Given the description of an element on the screen output the (x, y) to click on. 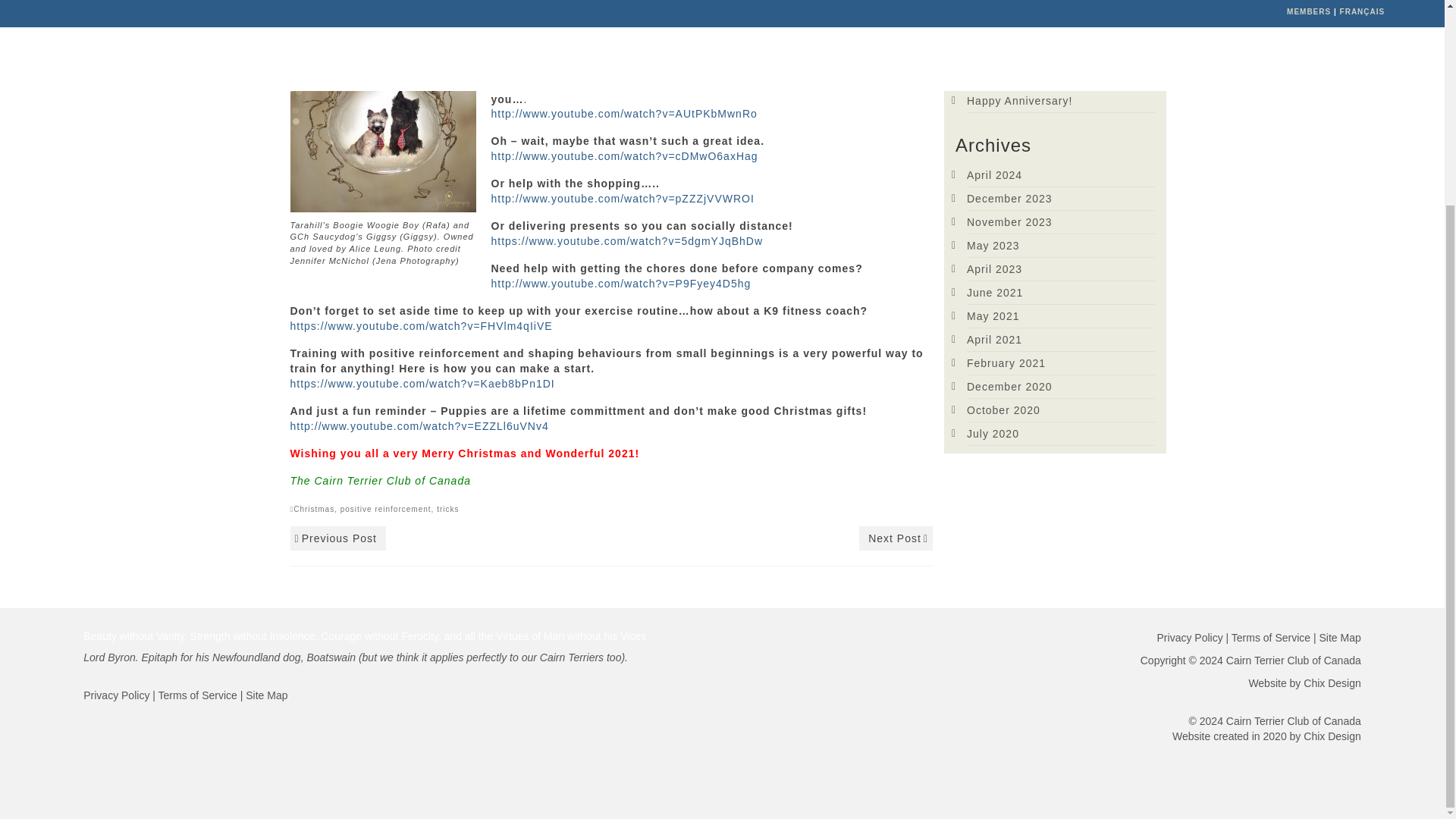
Terms of Service (197, 695)
Site Map (1340, 637)
tricks (447, 509)
Site Map (266, 695)
Christmas (314, 509)
positive reinforcement (385, 509)
Privacy Policy (1190, 637)
Privacy Policy (115, 695)
Terms of Service (1270, 637)
